Given the description of an element on the screen output the (x, y) to click on. 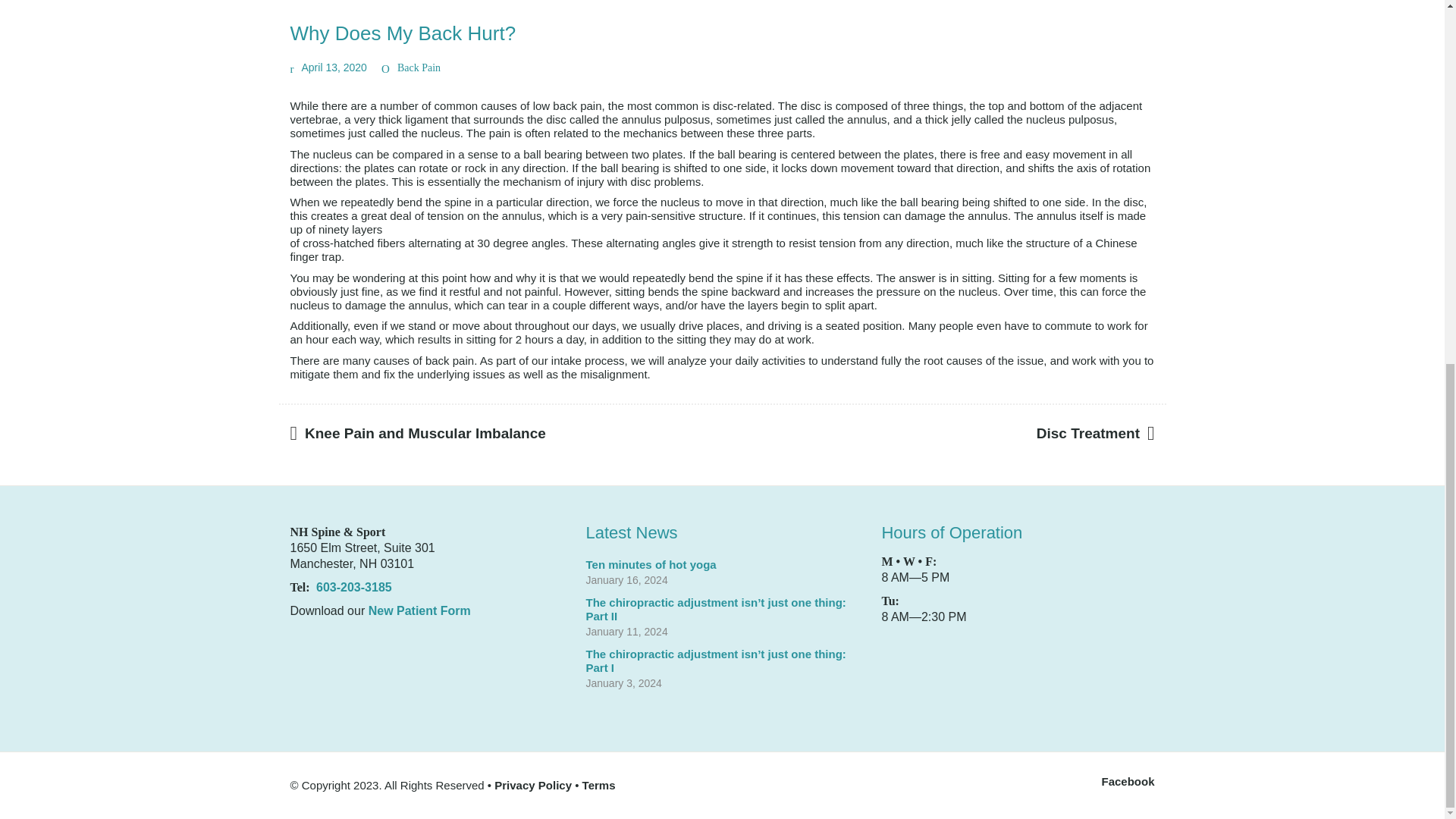
Facebook (1127, 781)
